Given the description of an element on the screen output the (x, y) to click on. 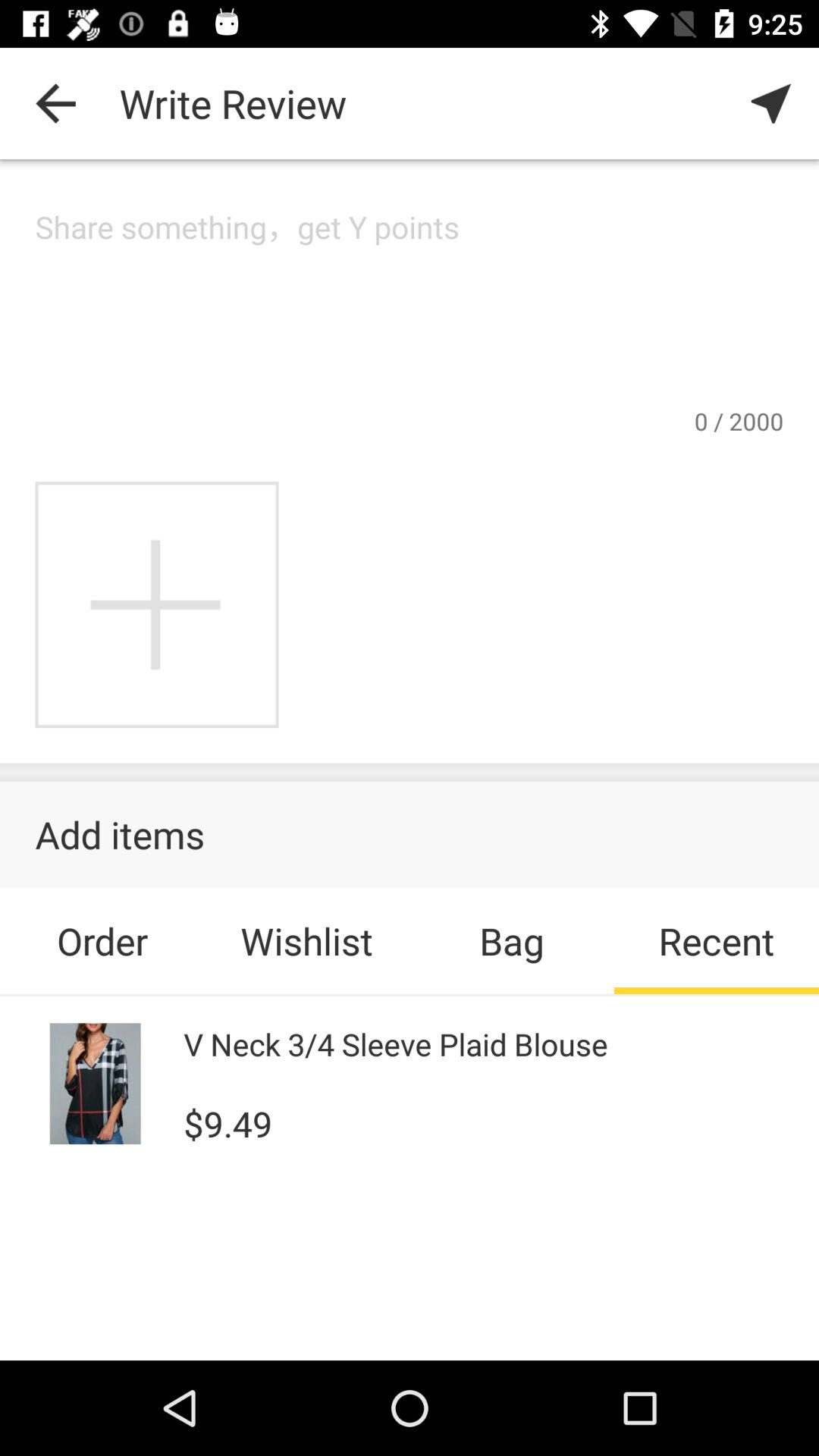
type a review (409, 304)
